Given the description of an element on the screen output the (x, y) to click on. 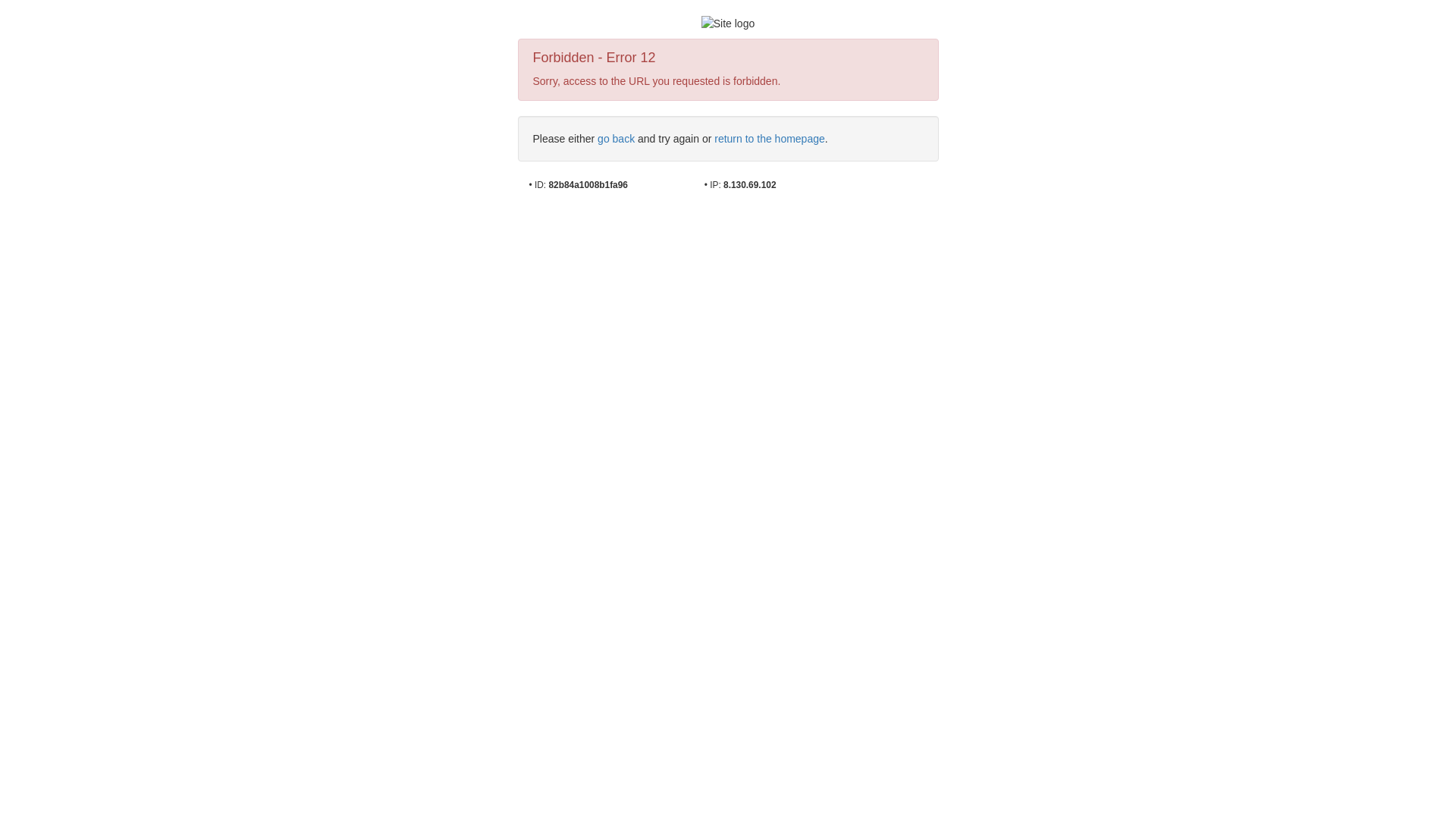
return to the homepage Element type: text (769, 138)
go back Element type: text (615, 138)
